Given the description of an element on the screen output the (x, y) to click on. 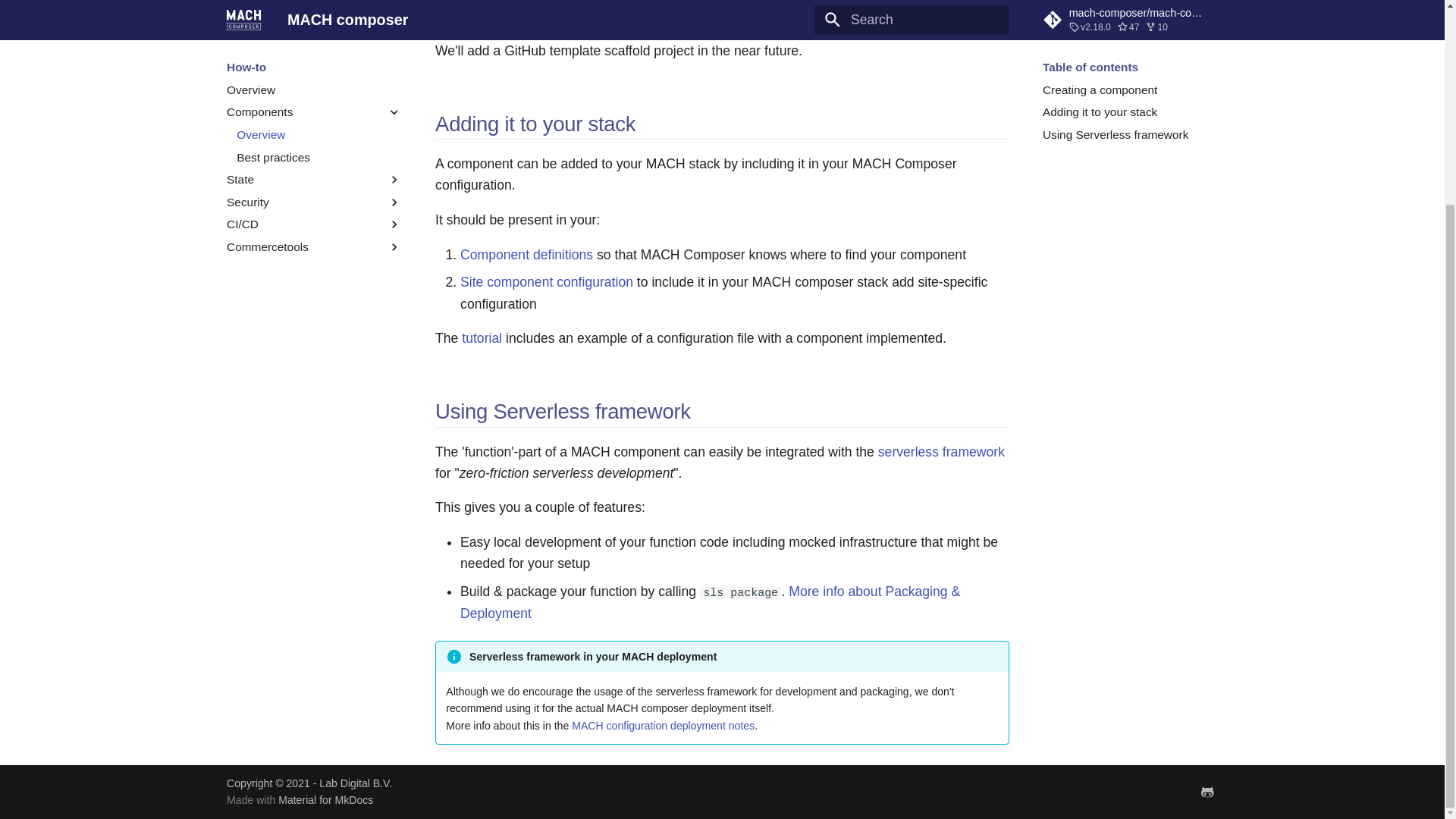
labdigital.nl (1207, 791)
